Given the description of an element on the screen output the (x, y) to click on. 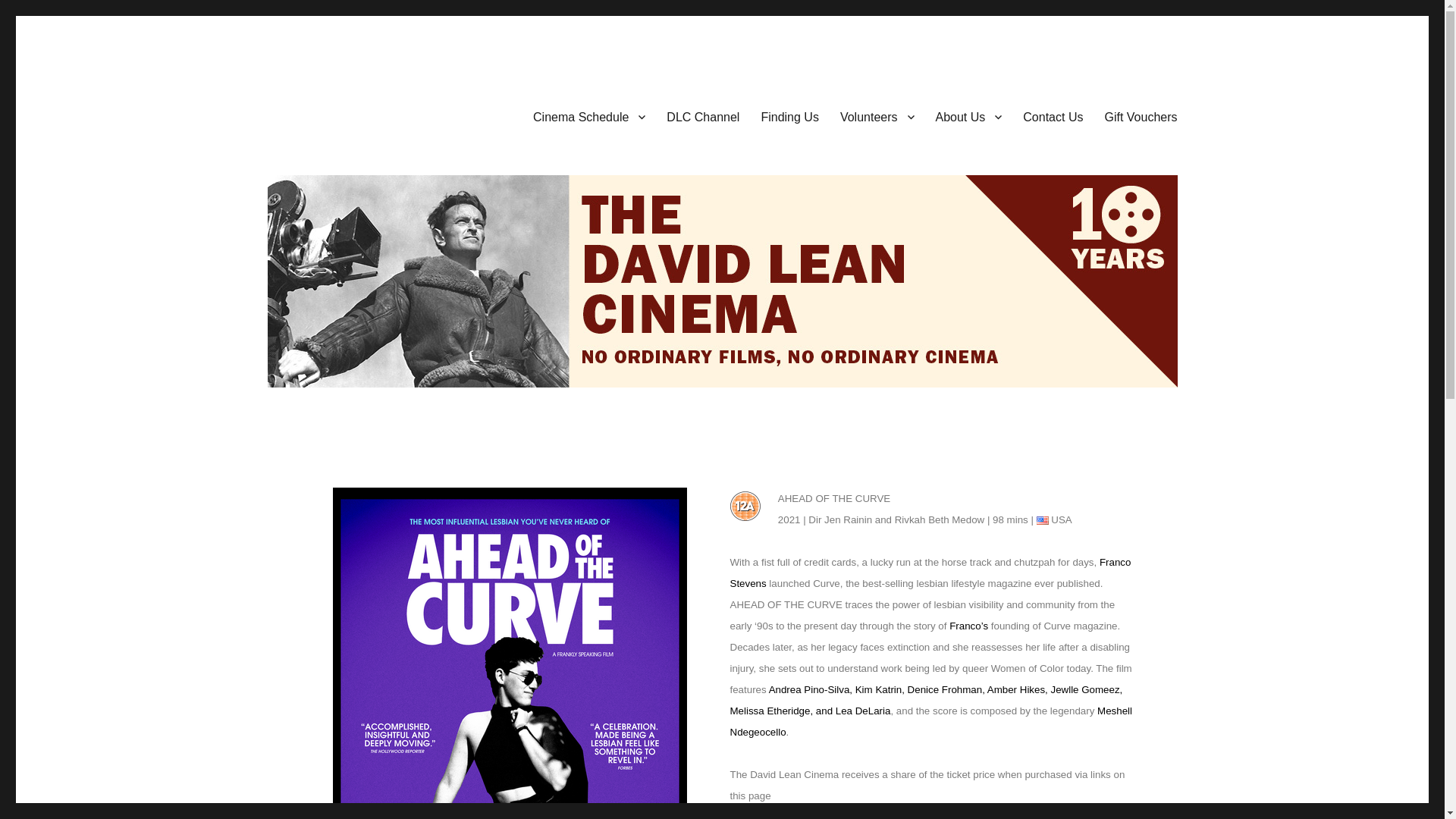
Gift Vouchers (1140, 116)
Cinema Schedule (589, 116)
About Us (968, 116)
Volunteers (876, 116)
The David Lean Cinema (386, 114)
DLC Channel (702, 116)
Finding Us (788, 116)
Contact Us (1052, 116)
